Given the description of an element on the screen output the (x, y) to click on. 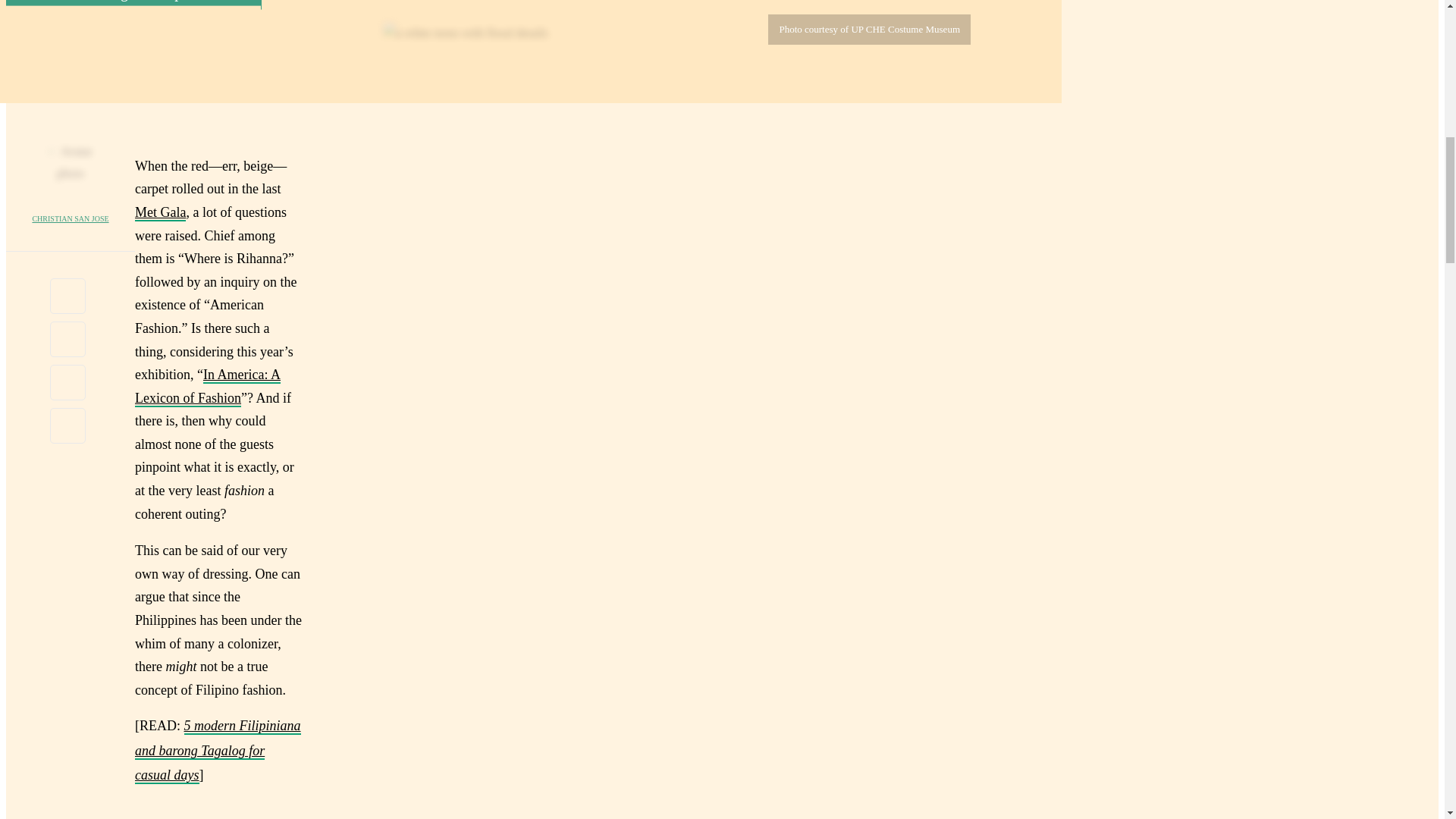
CHRISTIAN SAN JOSE (70, 218)
5 modern Filipiniana and barong Tagalog for casual days (218, 750)
Met Gala (160, 212)
In America: A Lexicon of Fashion (208, 386)
